Given the description of an element on the screen output the (x, y) to click on. 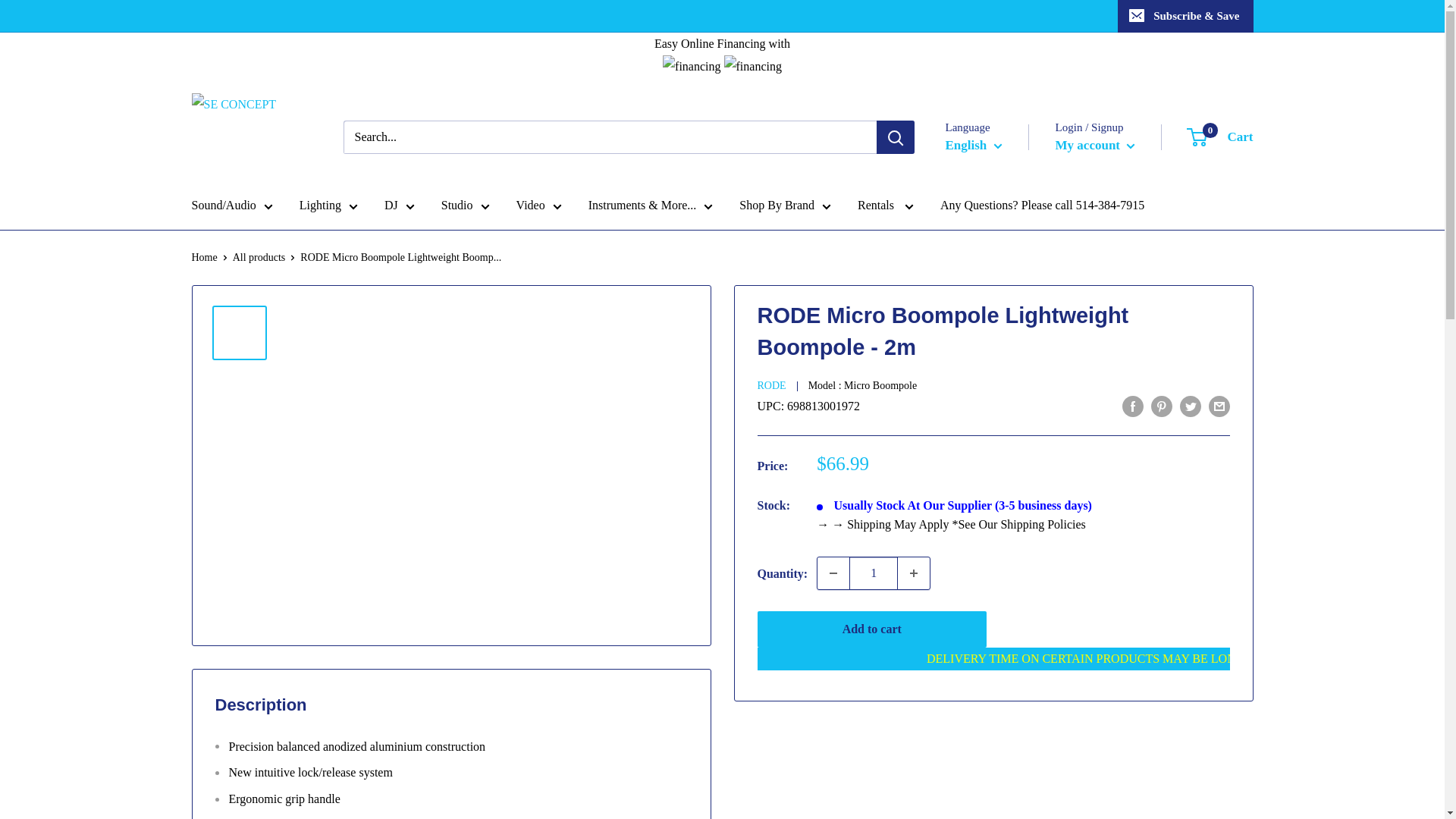
Decrease quantity by 1 (832, 572)
1 (873, 572)
Increase quantity by 1 (914, 572)
